Given the description of an element on the screen output the (x, y) to click on. 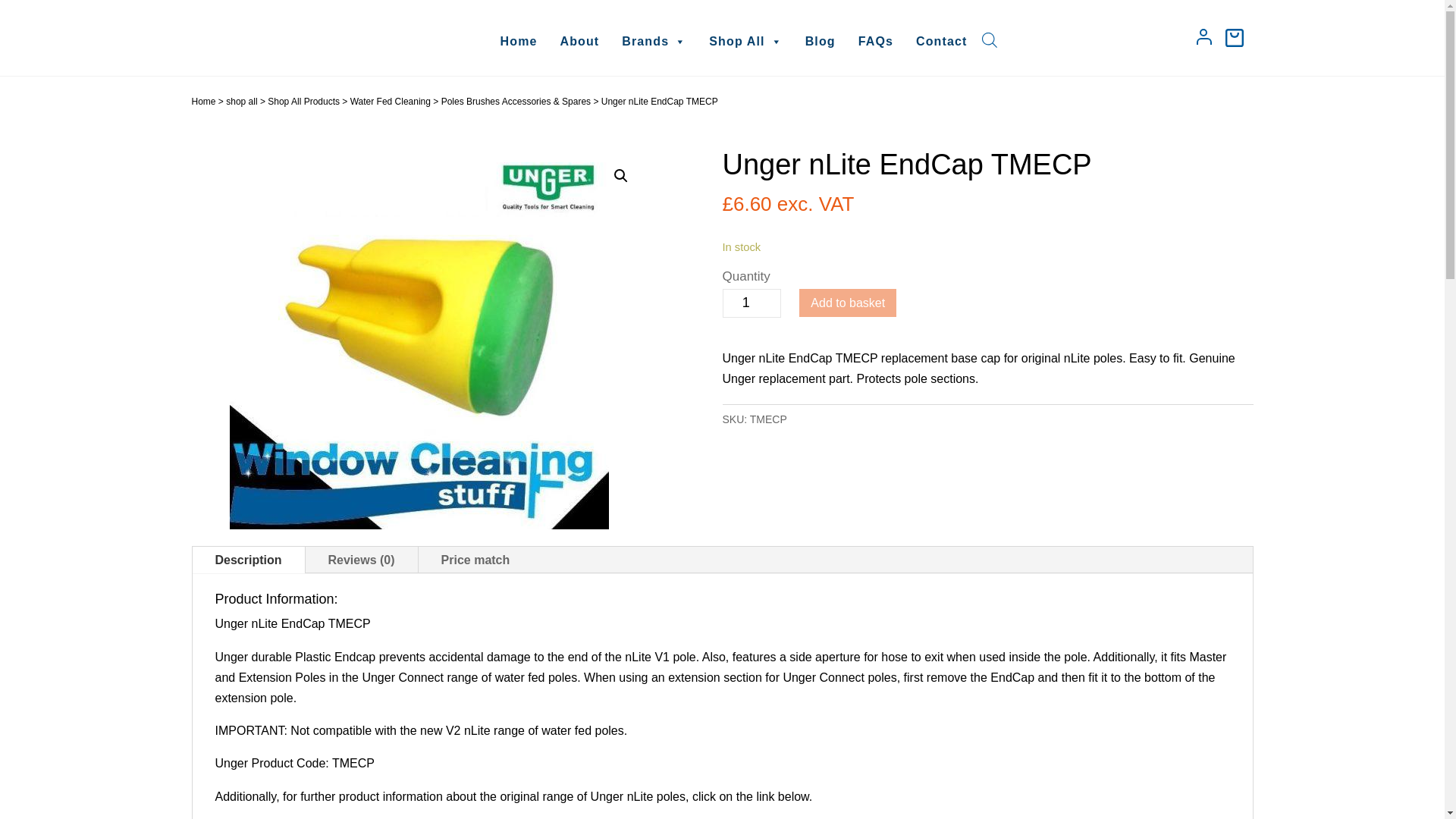
Brands (654, 41)
My Basket (1234, 37)
About (580, 41)
1 (751, 303)
Home (518, 41)
